Given the description of an element on the screen output the (x, y) to click on. 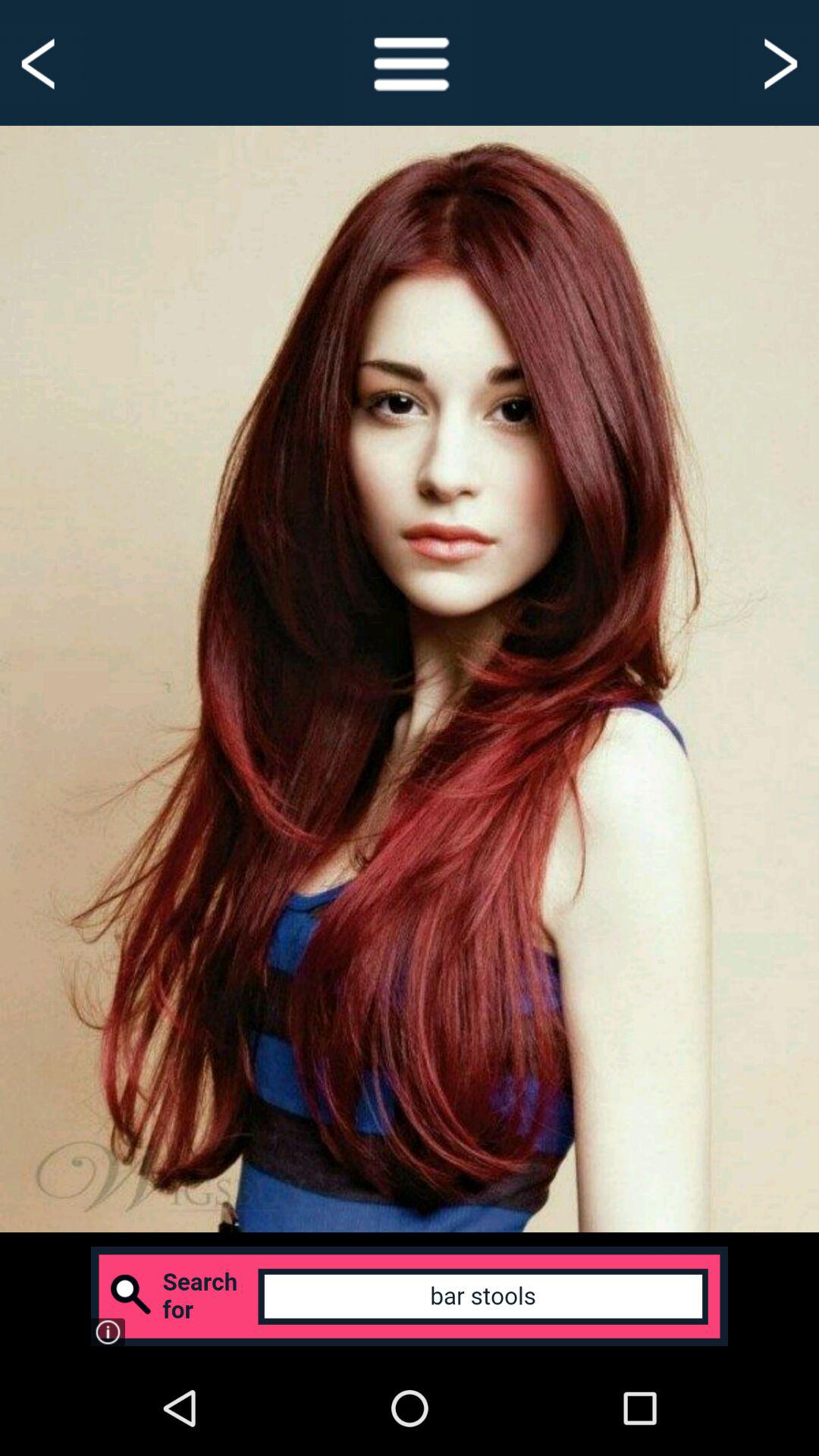
menu dropdown (409, 62)
